Given the description of an element on the screen output the (x, y) to click on. 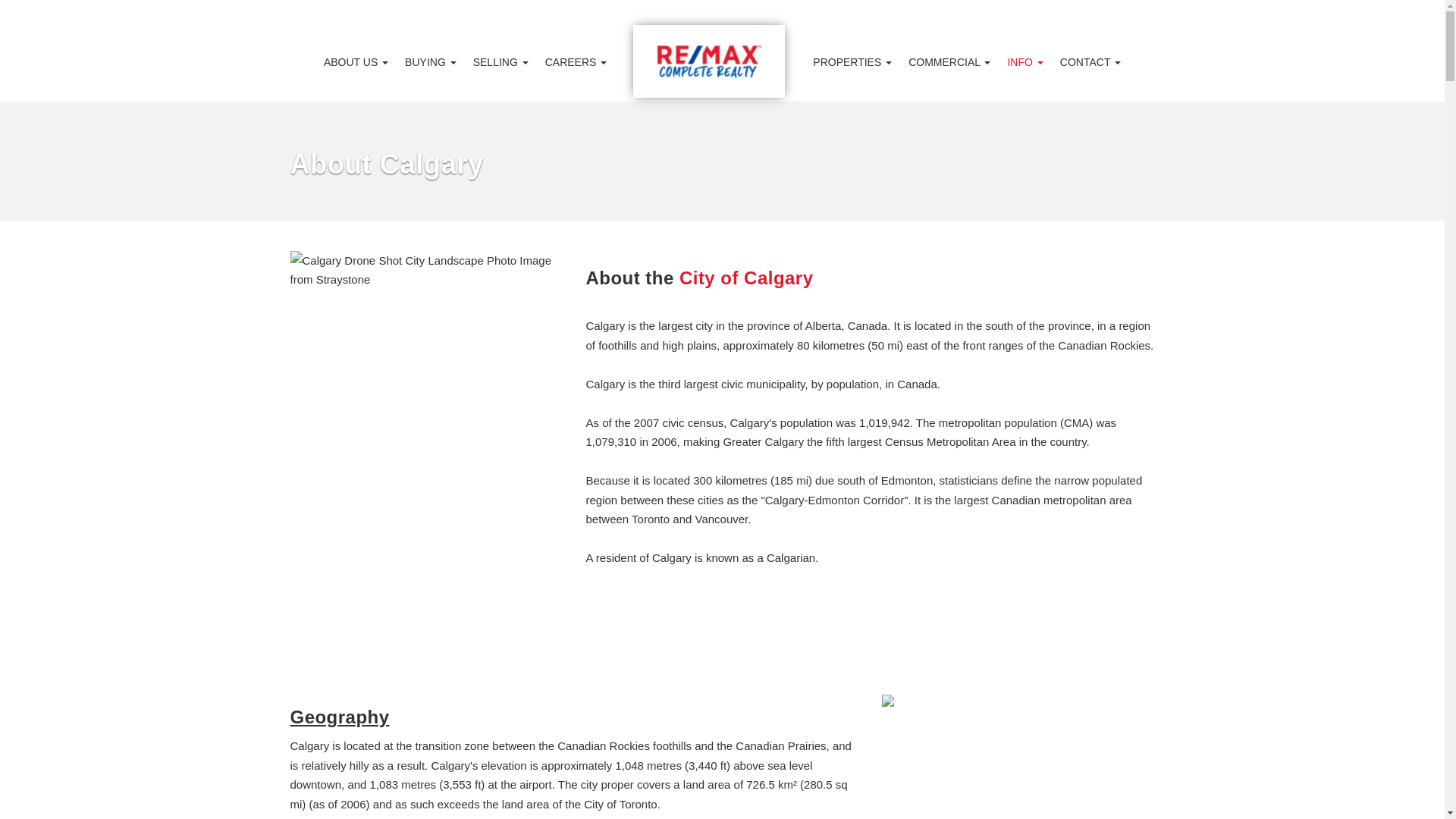
SELLING (500, 61)
CAREERS (576, 61)
4039308555 (218, 12)
PROPERTIES (852, 61)
BUYING (430, 61)
ABOUT US (355, 61)
